Given the description of an element on the screen output the (x, y) to click on. 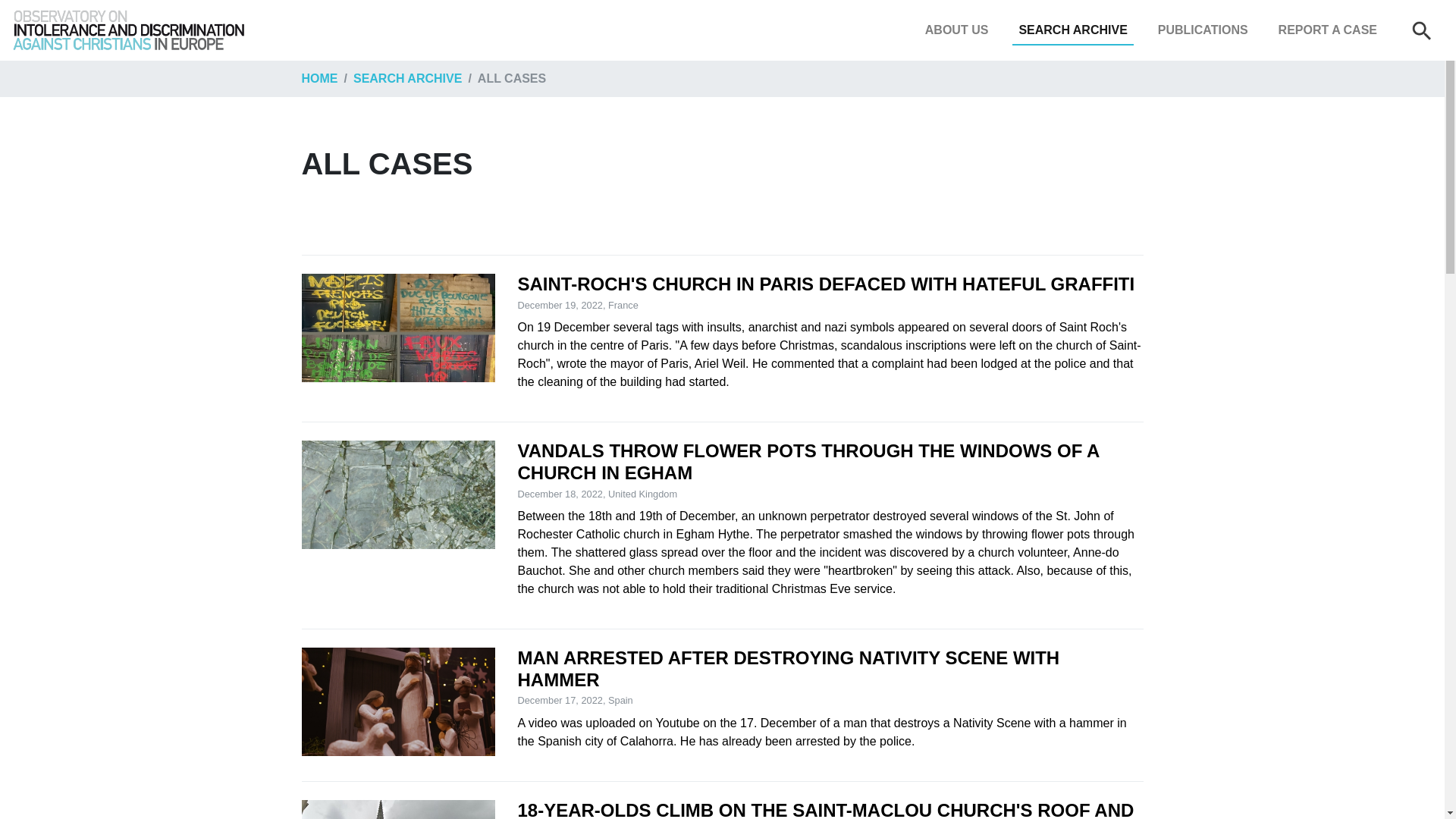
REPORT A CASE (1327, 30)
PUBLICATIONS (1202, 30)
About us (956, 30)
Search archive (1071, 30)
ABOUT US (956, 30)
Report a case (1327, 30)
Publications (1202, 30)
SEARCH ARCHIVE (1071, 30)
